Given the description of an element on the screen output the (x, y) to click on. 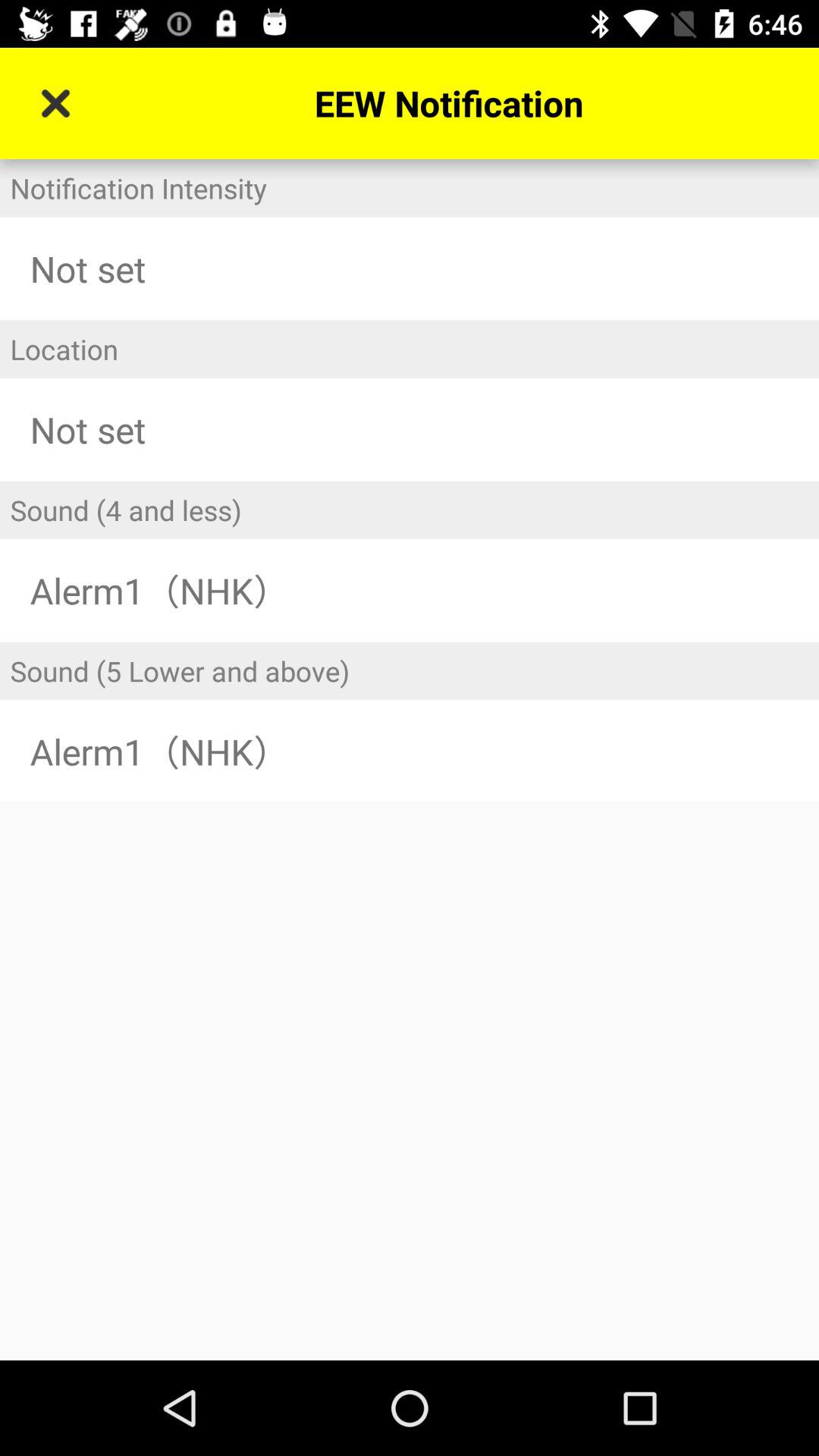
flip until location (409, 348)
